Given the description of an element on the screen output the (x, y) to click on. 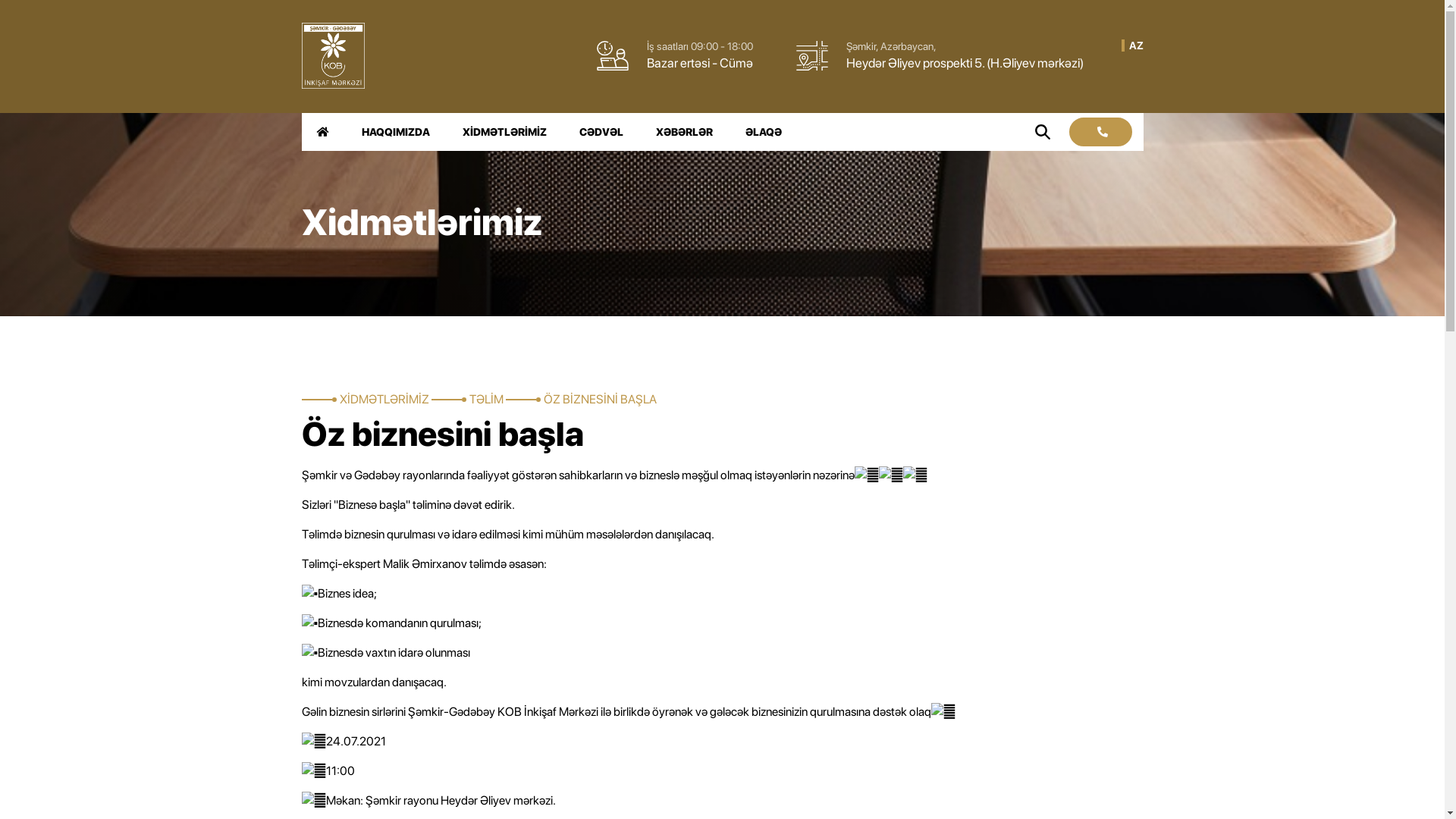
AZ Element type: text (1135, 45)
HAQQIMIZDA Element type: text (394, 131)
